Given the description of an element on the screen output the (x, y) to click on. 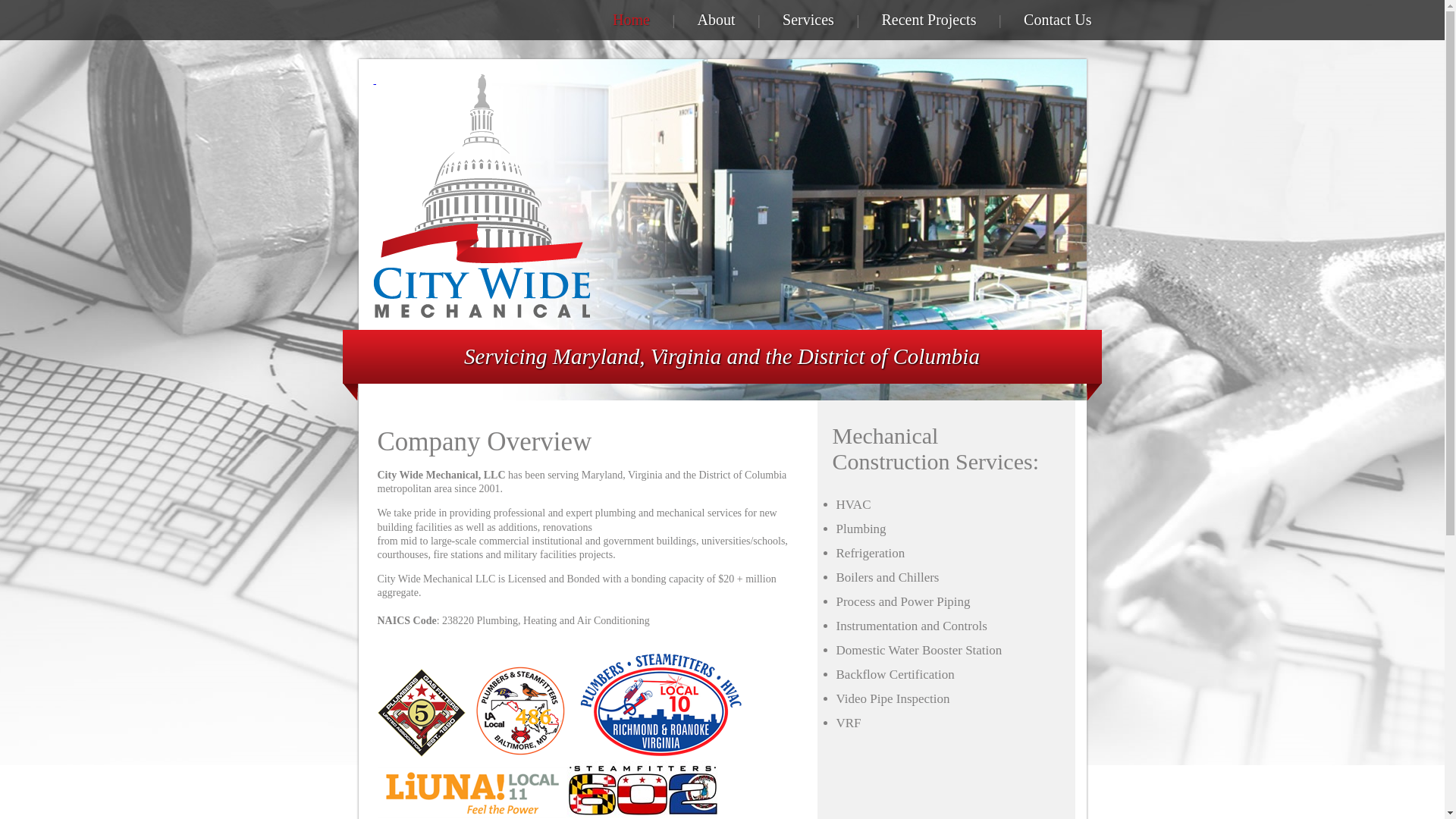
Recent Projects (927, 19)
Services (808, 19)
Contact Us (1056, 19)
About (716, 19)
Home (630, 19)
